Given the description of an element on the screen output the (x, y) to click on. 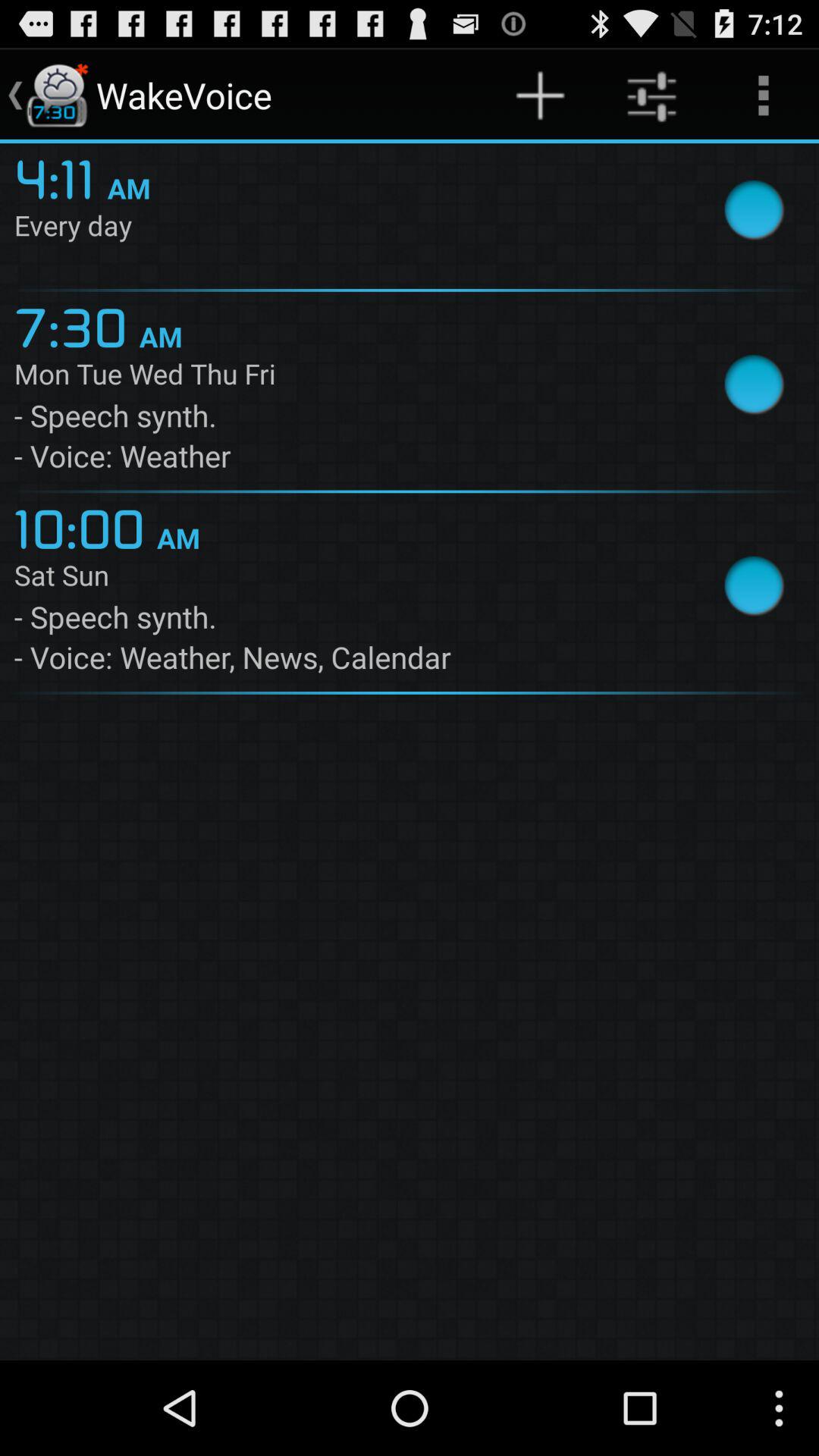
tap the icon next to am (76, 324)
